Given the description of an element on the screen output the (x, y) to click on. 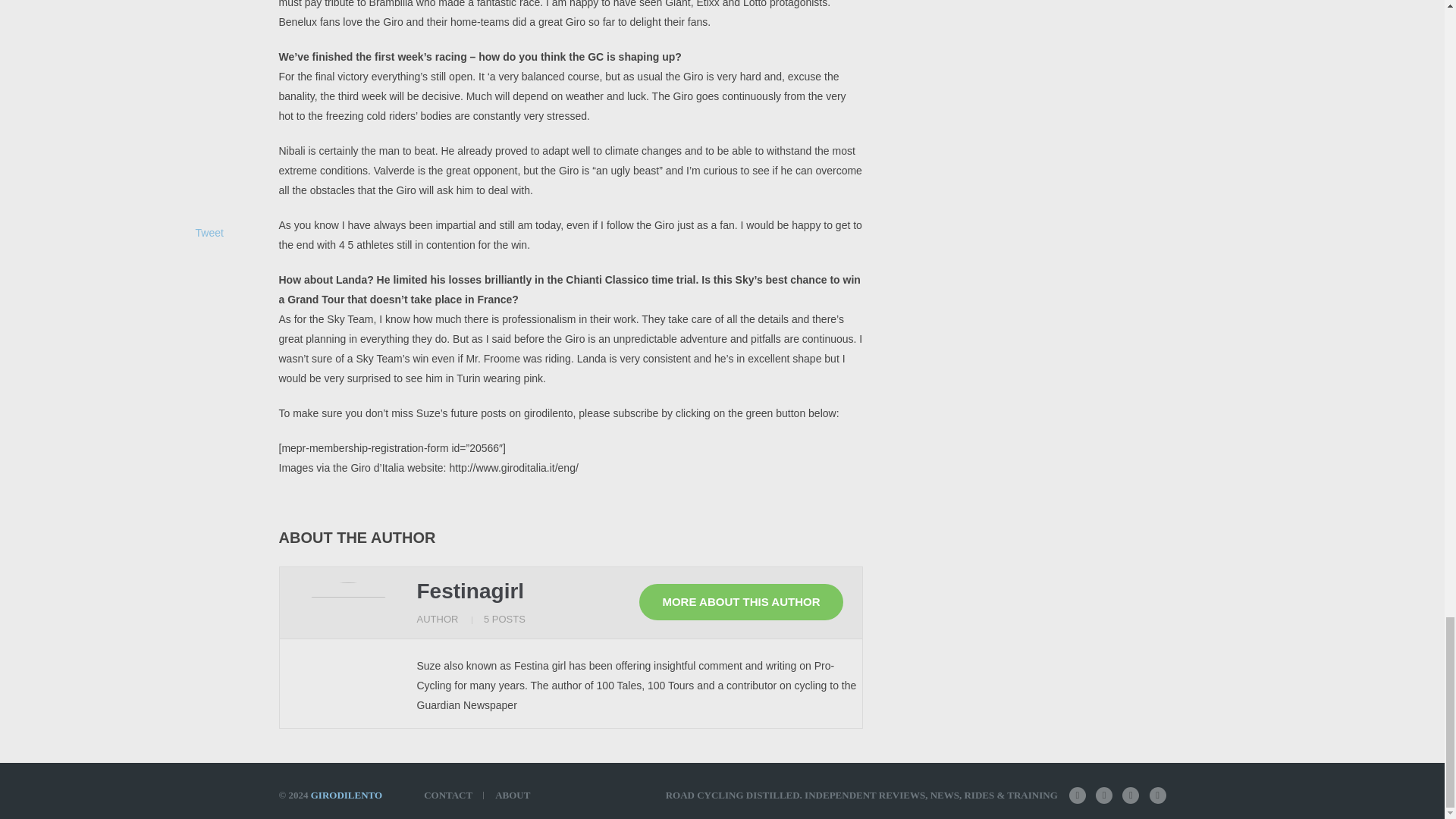
MORE ABOUT THIS AUTHOR (741, 601)
GIRODILENTO (346, 794)
5 POSTS (504, 618)
CONTACT (453, 794)
